Given the description of an element on the screen output the (x, y) to click on. 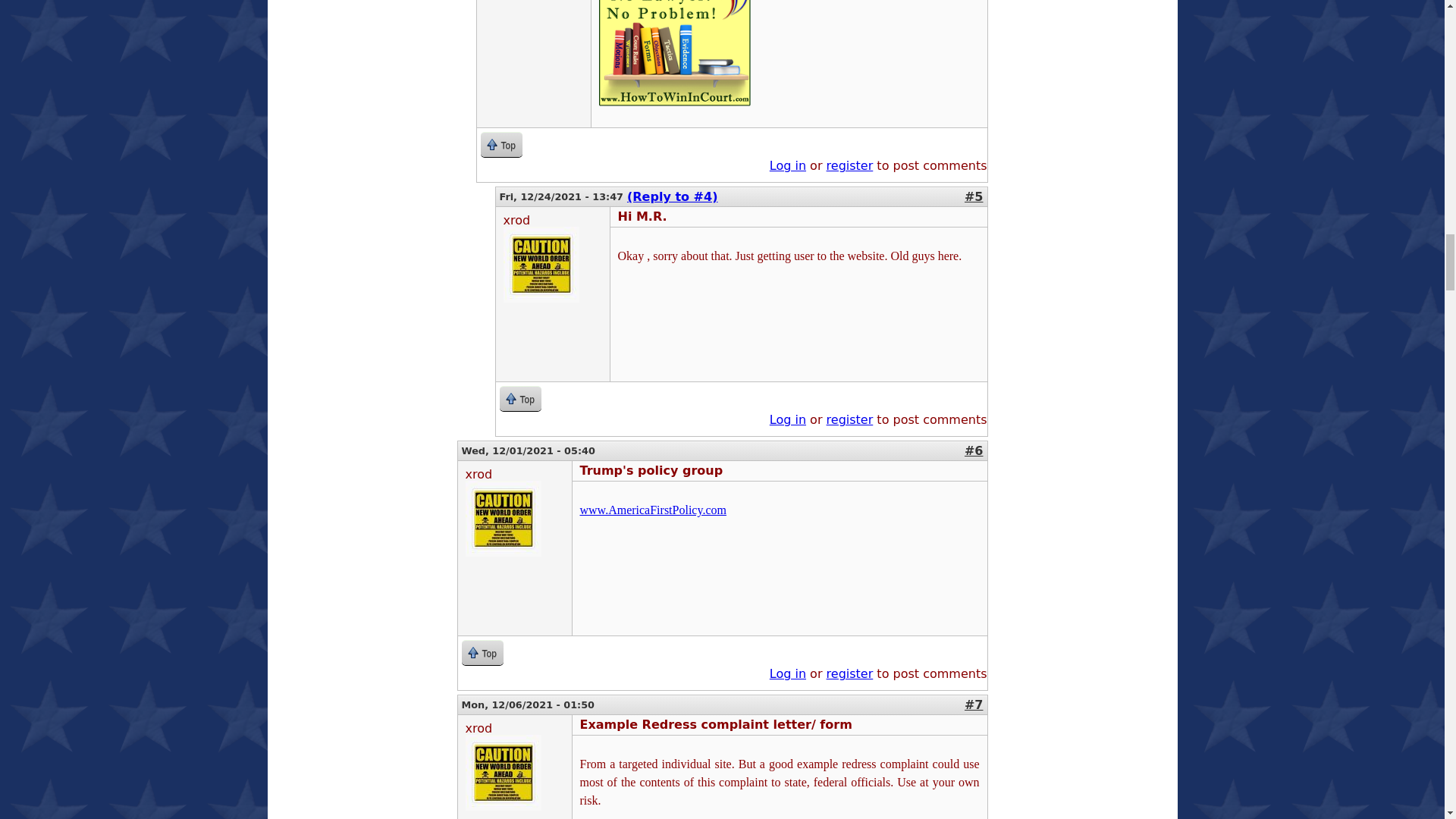
xrod's picture (503, 518)
Top (501, 144)
Jump to top of page (501, 144)
Jump to top of page (481, 652)
register (850, 165)
Log in (788, 165)
xrod's picture (541, 264)
Jump to top of page (519, 398)
xrod's picture (503, 772)
